Given the description of an element on the screen output the (x, y) to click on. 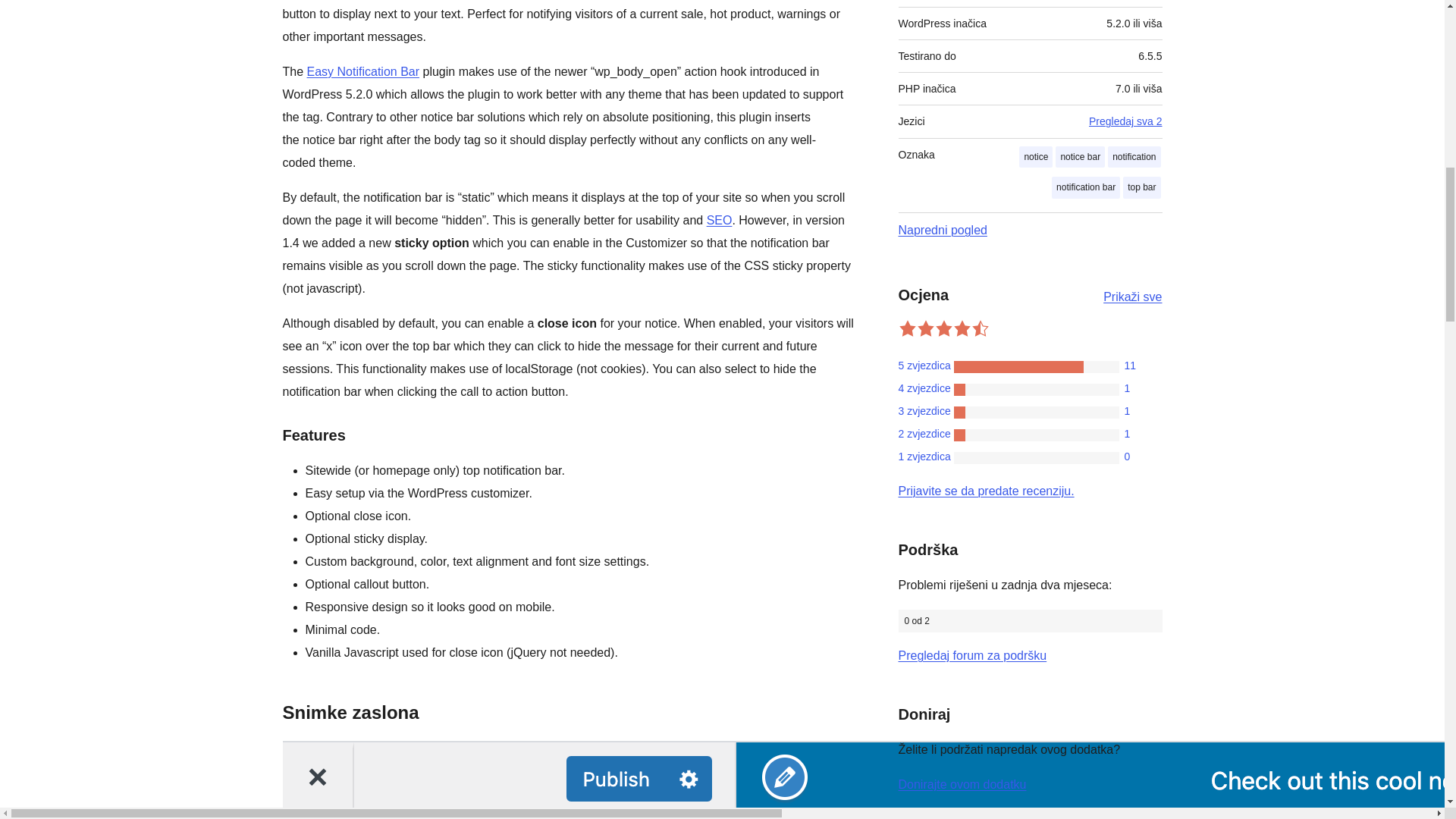
SEO (719, 219)
Easy Notification Bar (363, 71)
Prijavite se u WordPress.org (986, 490)
